Given the description of an element on the screen output the (x, y) to click on. 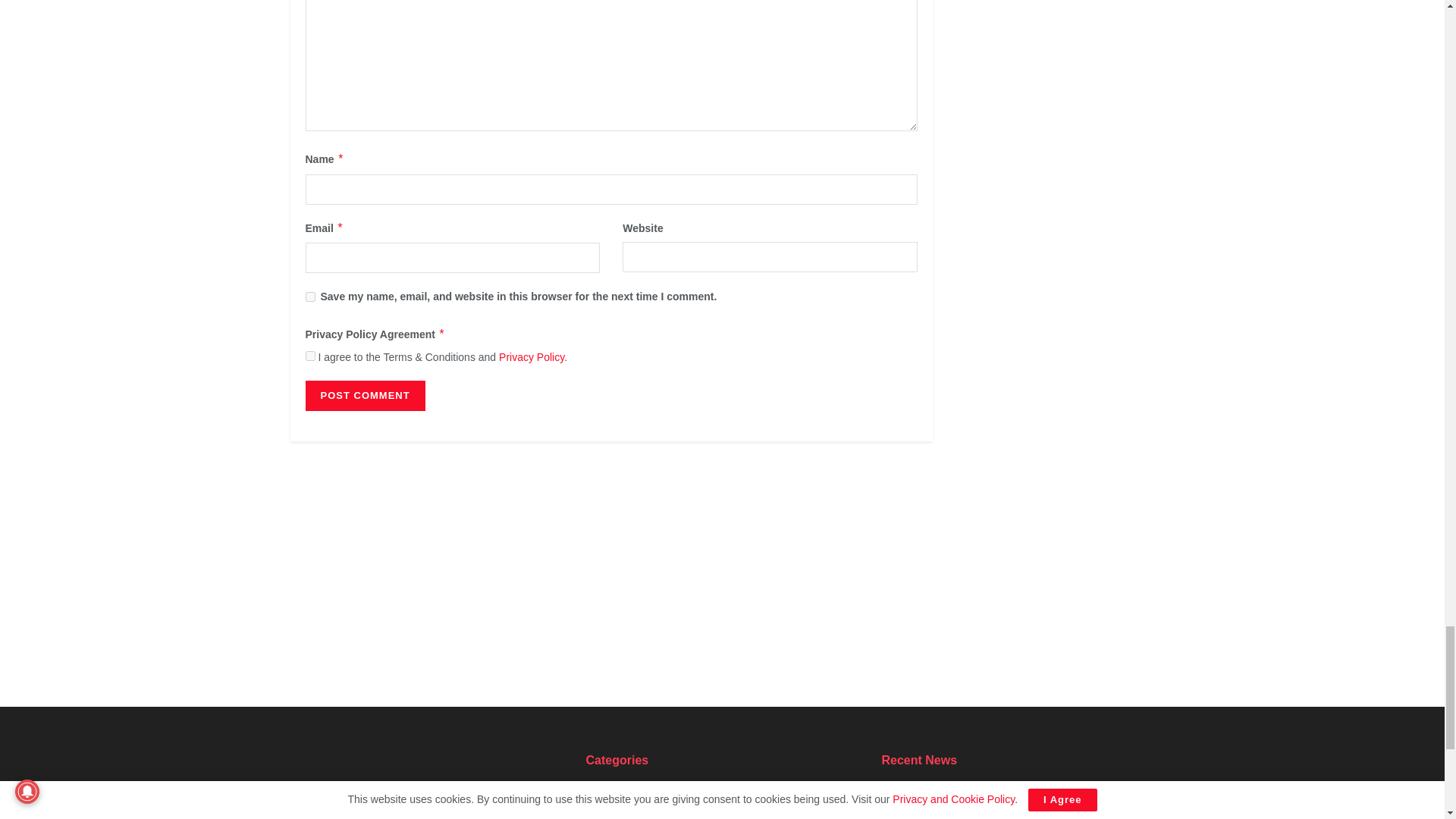
Post Comment (364, 395)
on (309, 356)
yes (309, 296)
